Given the description of an element on the screen output the (x, y) to click on. 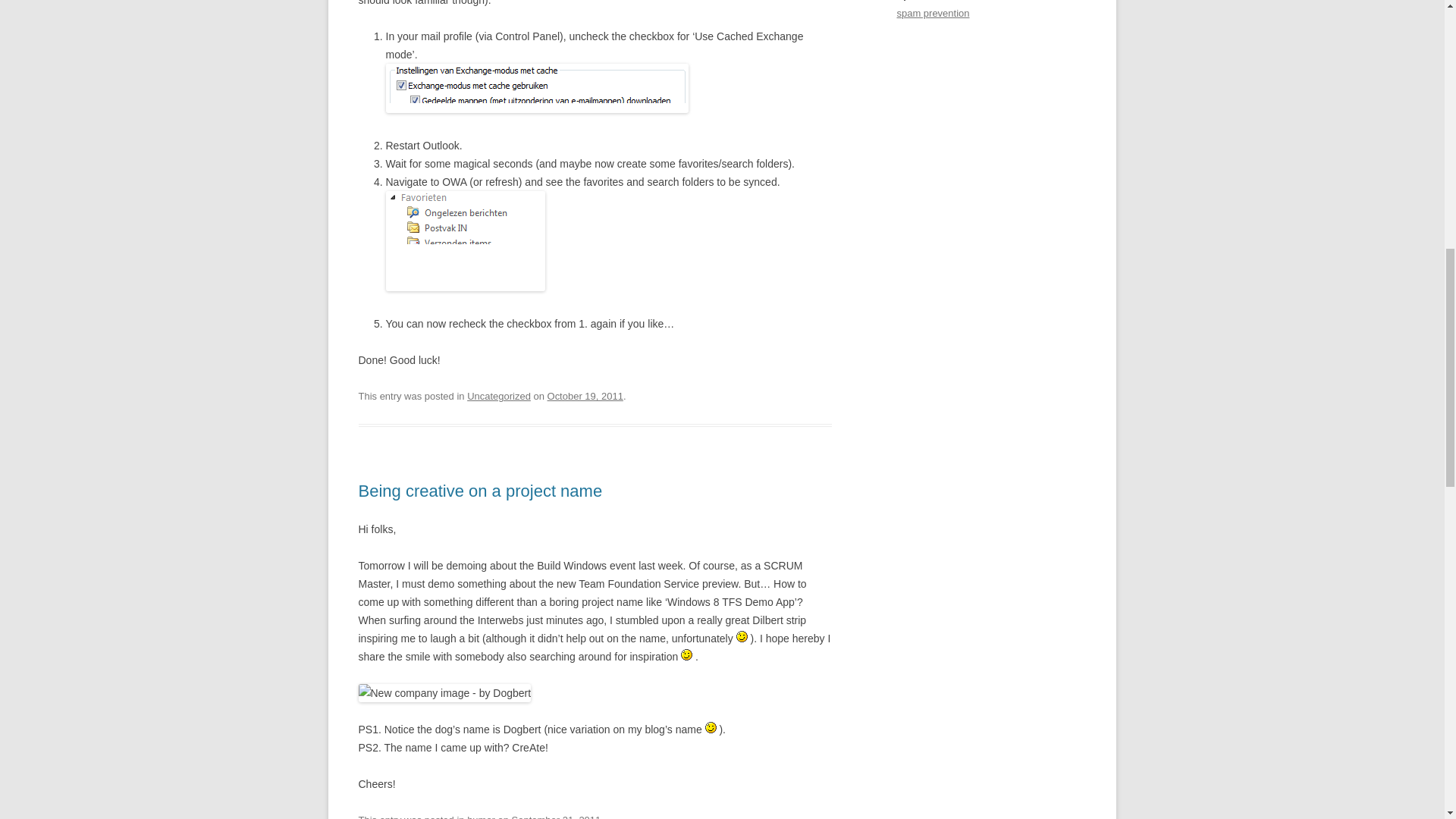
Exchange with cache option (536, 88)
View all posts in Uncategorized (499, 396)
Exchange synced favorites (464, 240)
humor (481, 816)
Uncategorized (499, 396)
October 19, 2011 (585, 396)
9:57 am (585, 396)
Permalink to Being creative on a project name (480, 490)
September 21, 2011 (556, 816)
Being creative on a project name (480, 490)
